Given the description of an element on the screen output the (x, y) to click on. 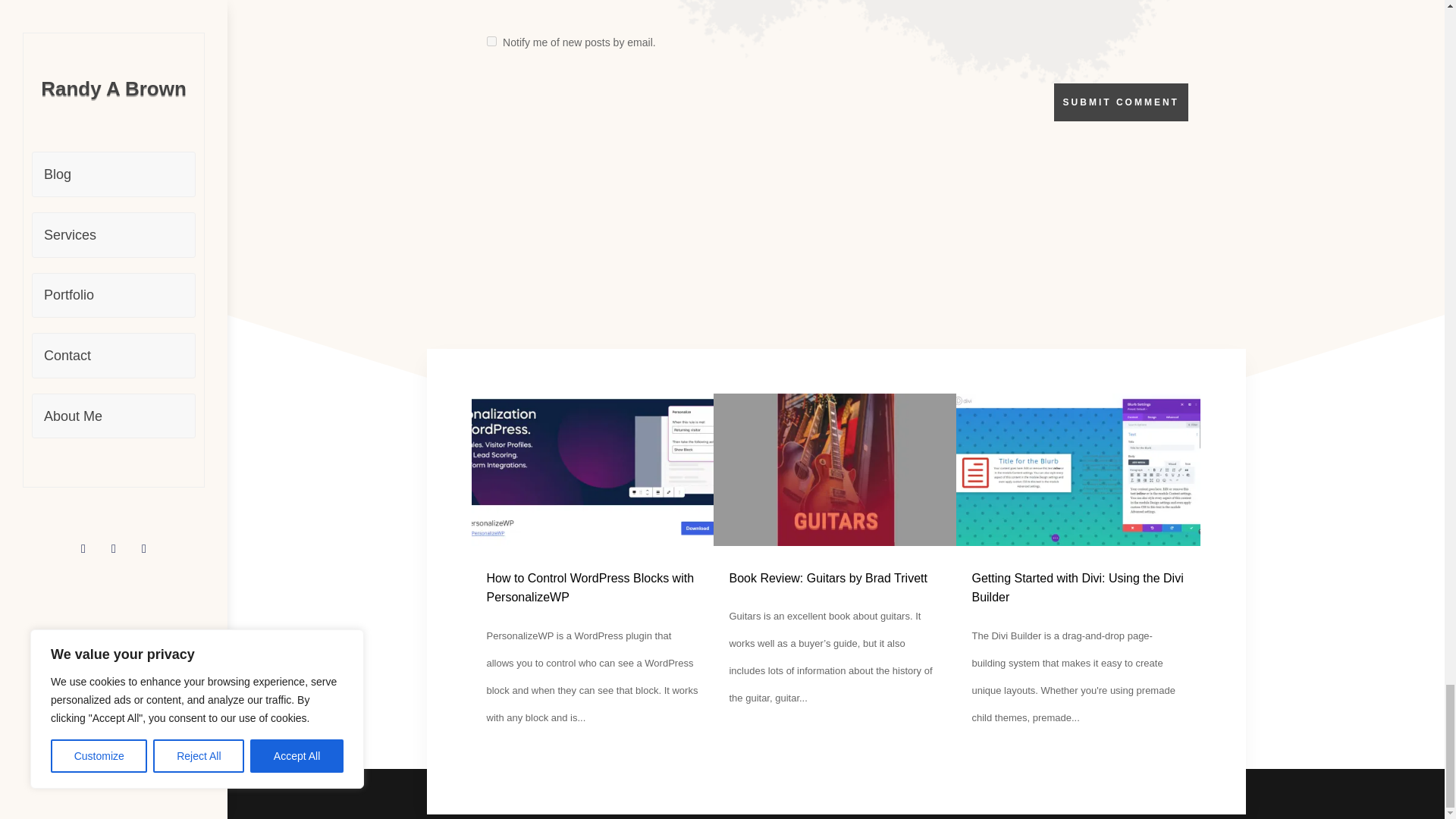
subscribe (491, 40)
